Given the description of an element on the screen output the (x, y) to click on. 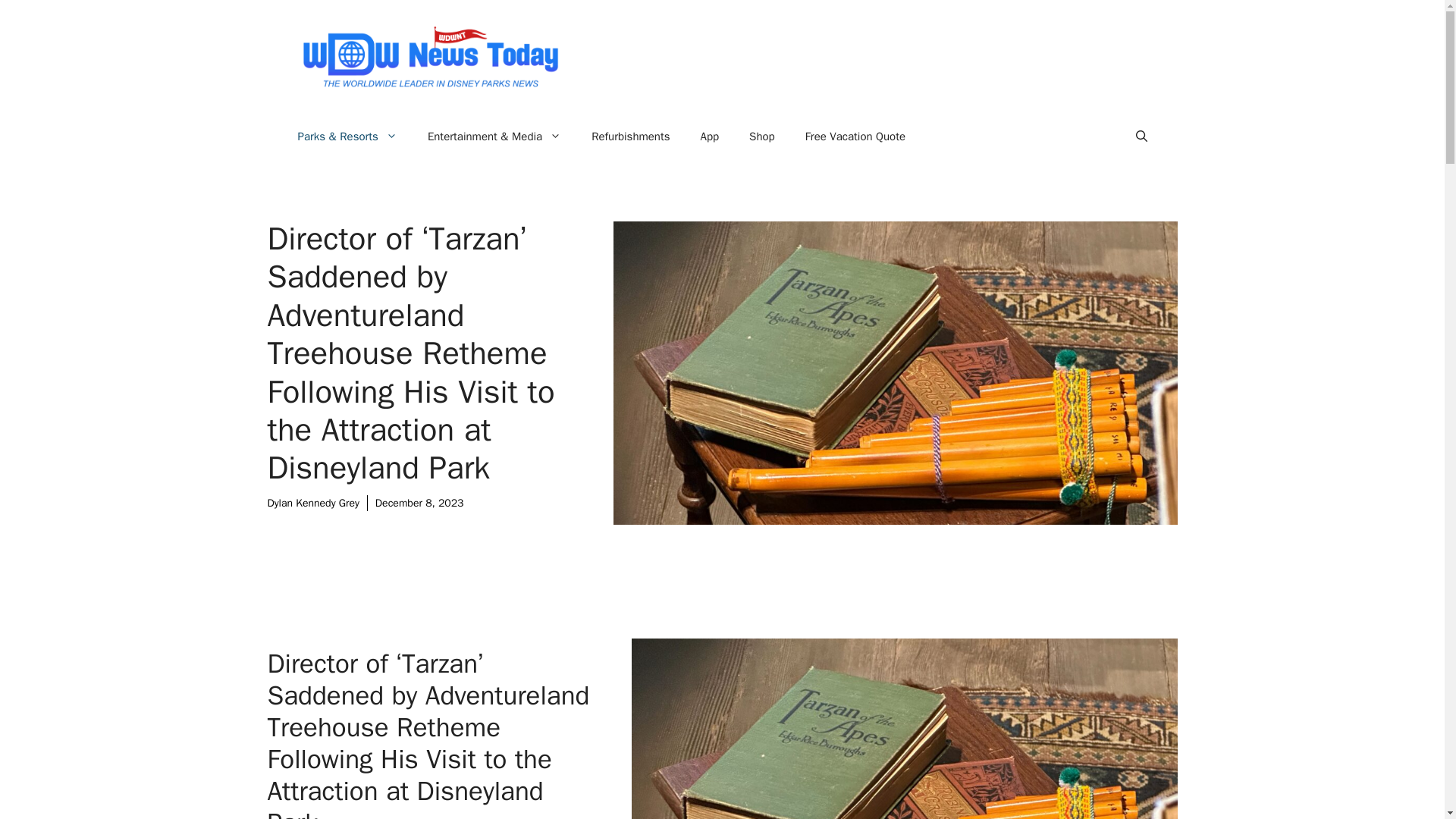
App (710, 135)
Refurbishments (630, 135)
Shop (761, 135)
Free Vacation Quote (855, 135)
